Given the description of an element on the screen output the (x, y) to click on. 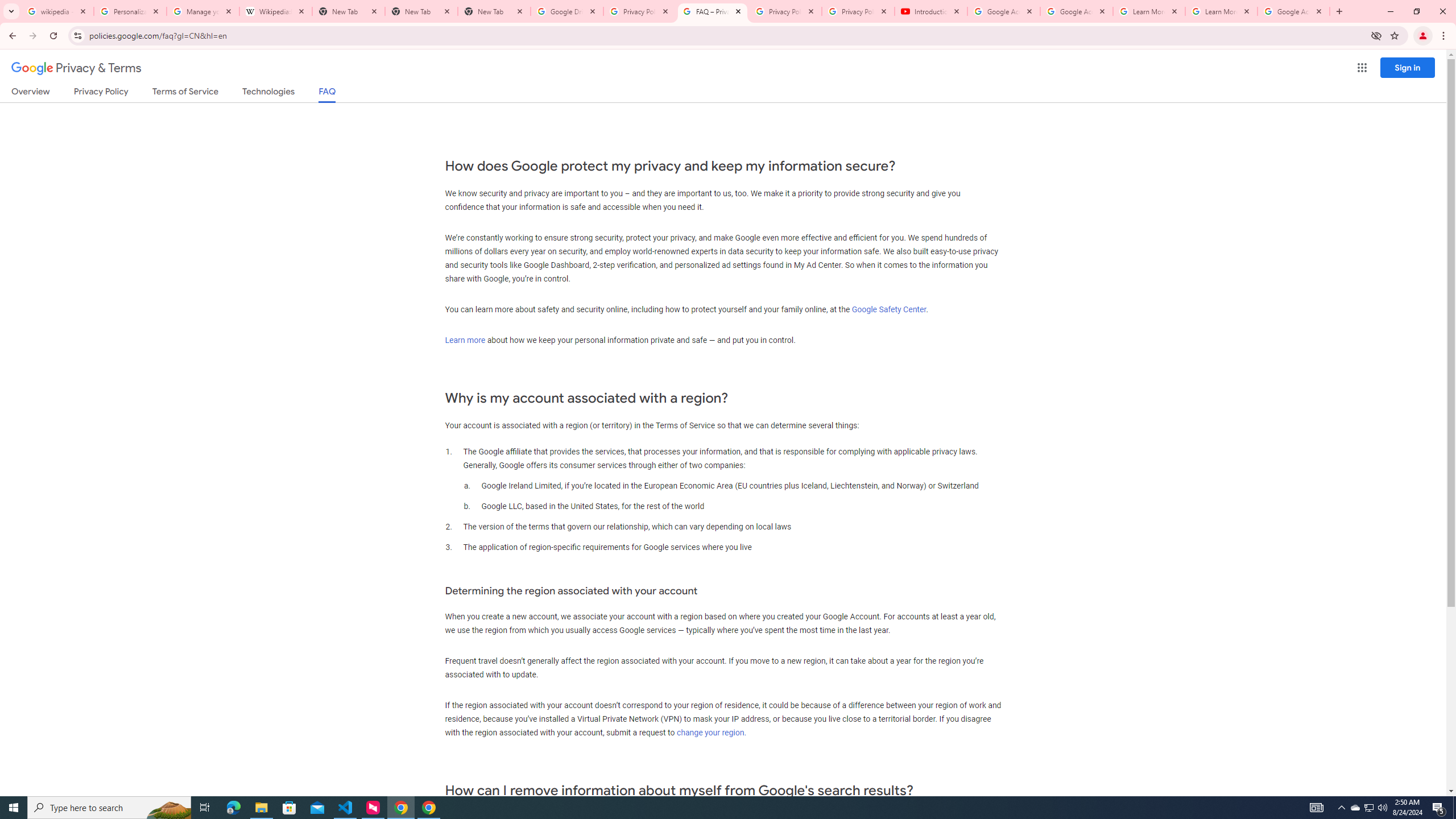
Manage your Location History - Google Search Help (202, 11)
New Tab (493, 11)
Google Account Help (1076, 11)
Google Drive: Sign-in (566, 11)
Learn more (465, 339)
